Given the description of an element on the screen output the (x, y) to click on. 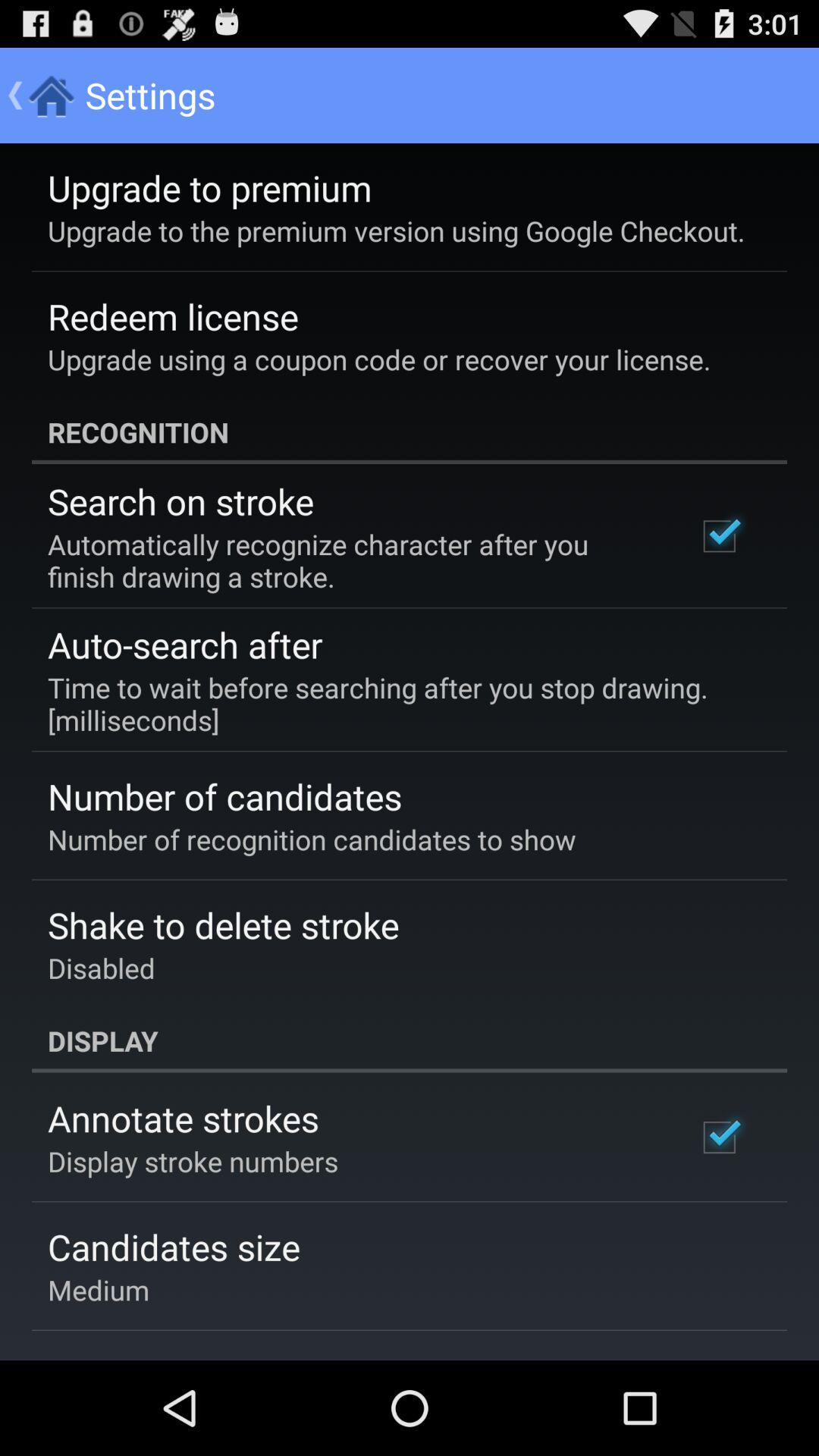
turn off the item below the candidates size (98, 1289)
